Given the description of an element on the screen output the (x, y) to click on. 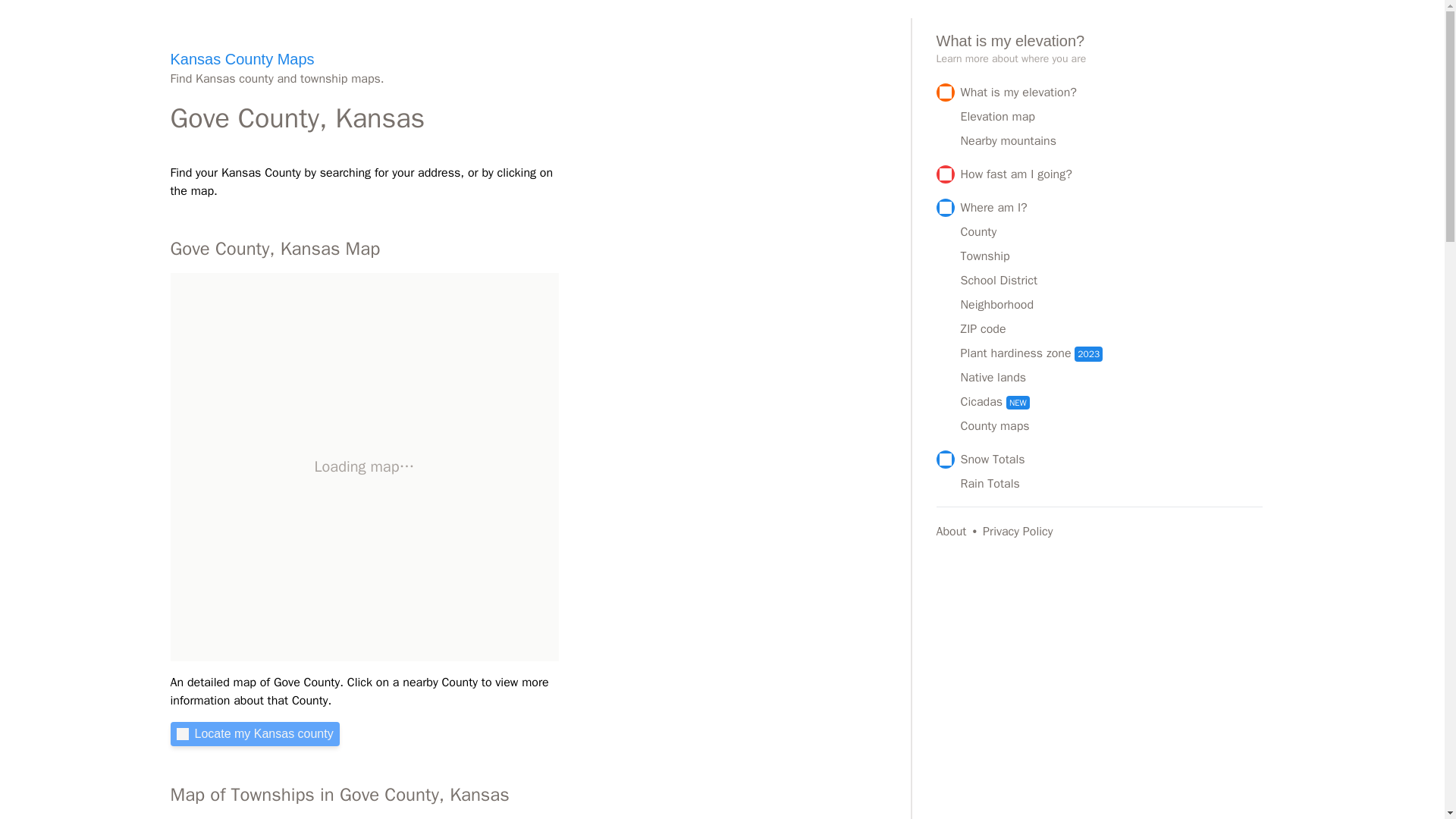
Plant hardiness zone 2023 (1111, 352)
County maps (1111, 425)
School District (1111, 280)
Locate my Kansas county (254, 733)
ZIP code (1111, 329)
Elevation map (1111, 116)
Kansas County Maps (242, 58)
About (956, 531)
Privacy Policy (1017, 531)
What is my elevation? (1099, 92)
